Given the description of an element on the screen output the (x, y) to click on. 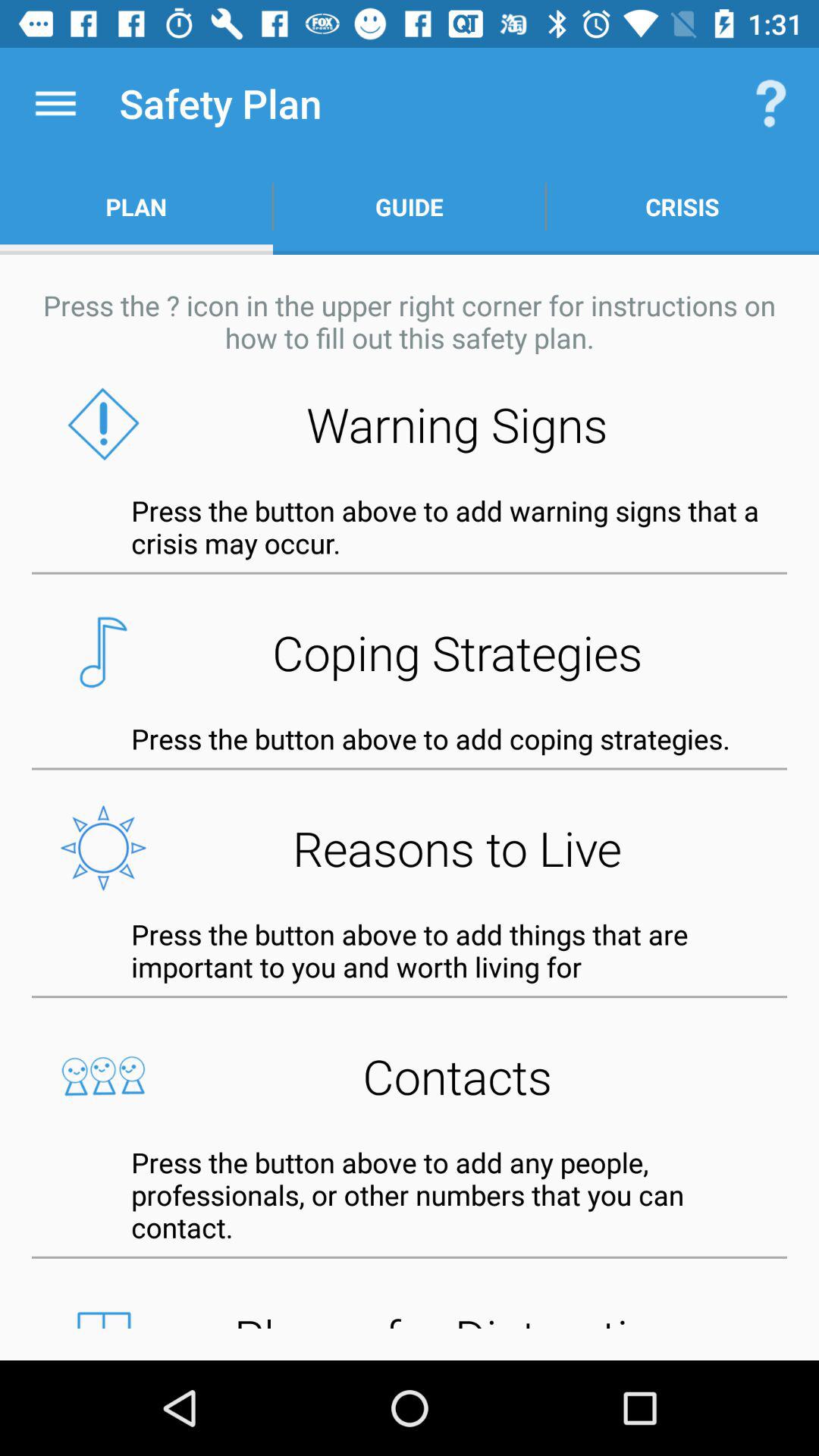
open the app below the safety plan item (409, 206)
